Given the description of an element on the screen output the (x, y) to click on. 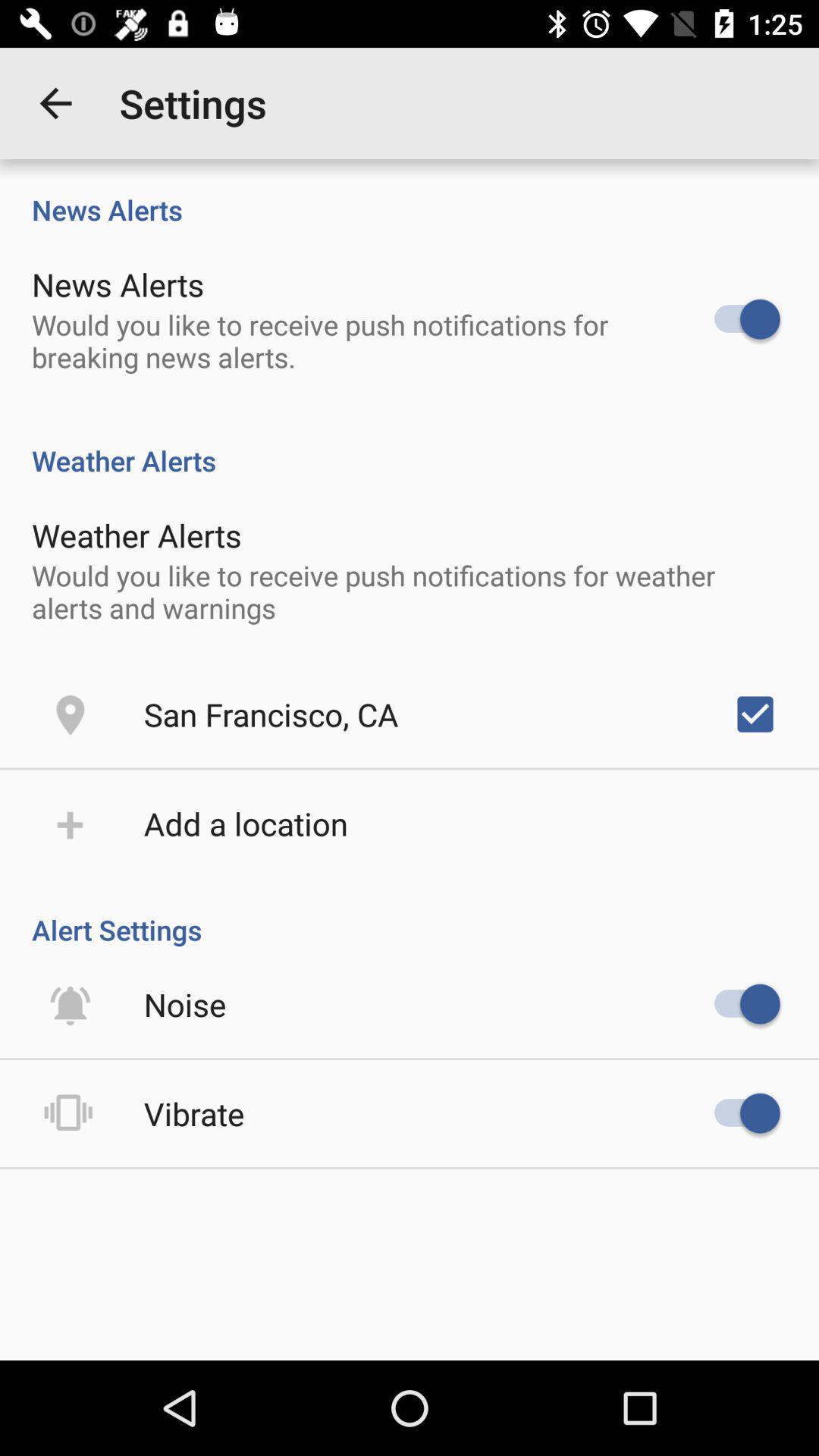
click the noise (184, 1004)
